Given the description of an element on the screen output the (x, y) to click on. 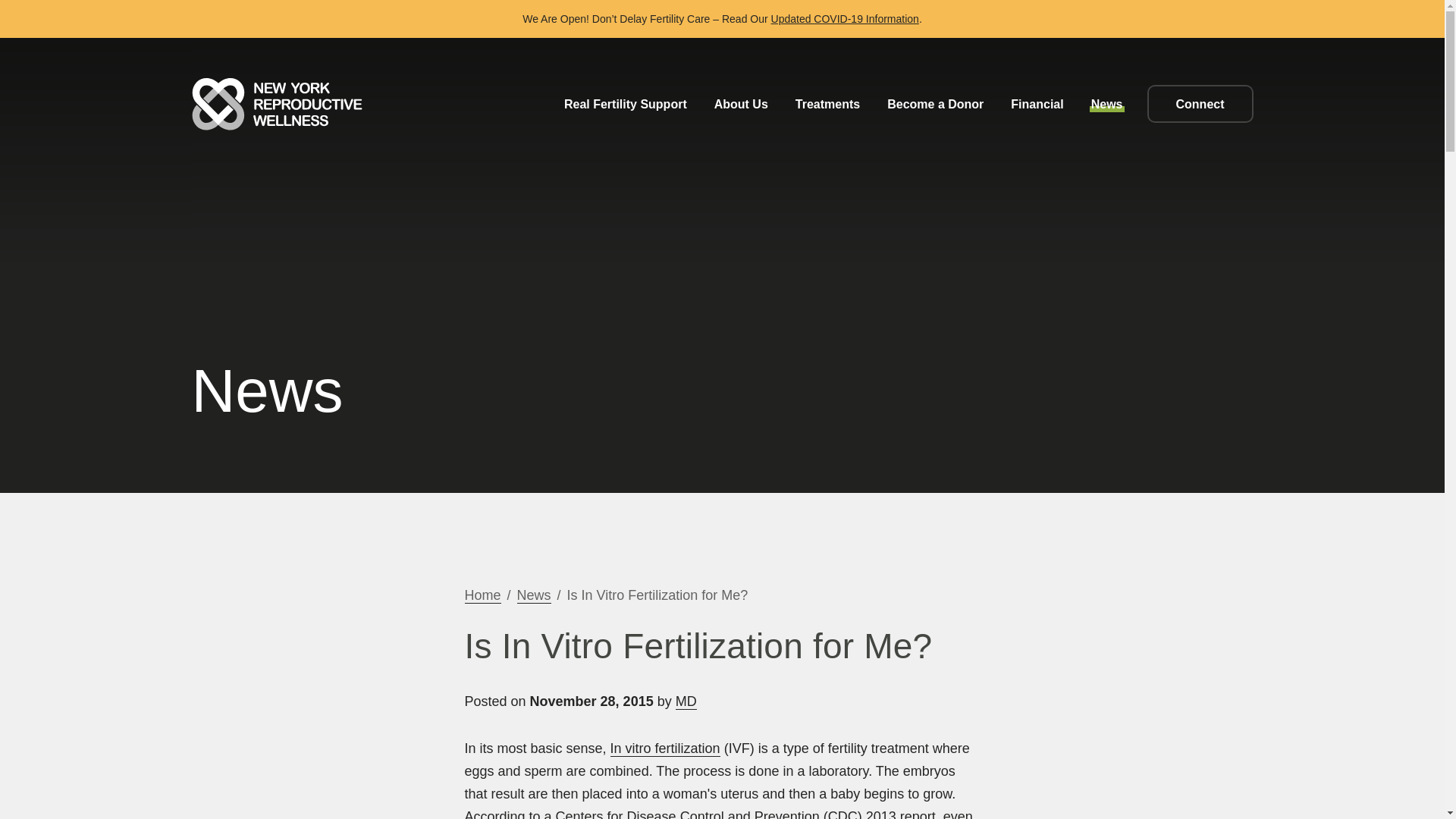
Real Fertility Support (625, 102)
Updated COVID-19 Information (844, 18)
Treatments (827, 102)
About Us (740, 102)
